Given the description of an element on the screen output the (x, y) to click on. 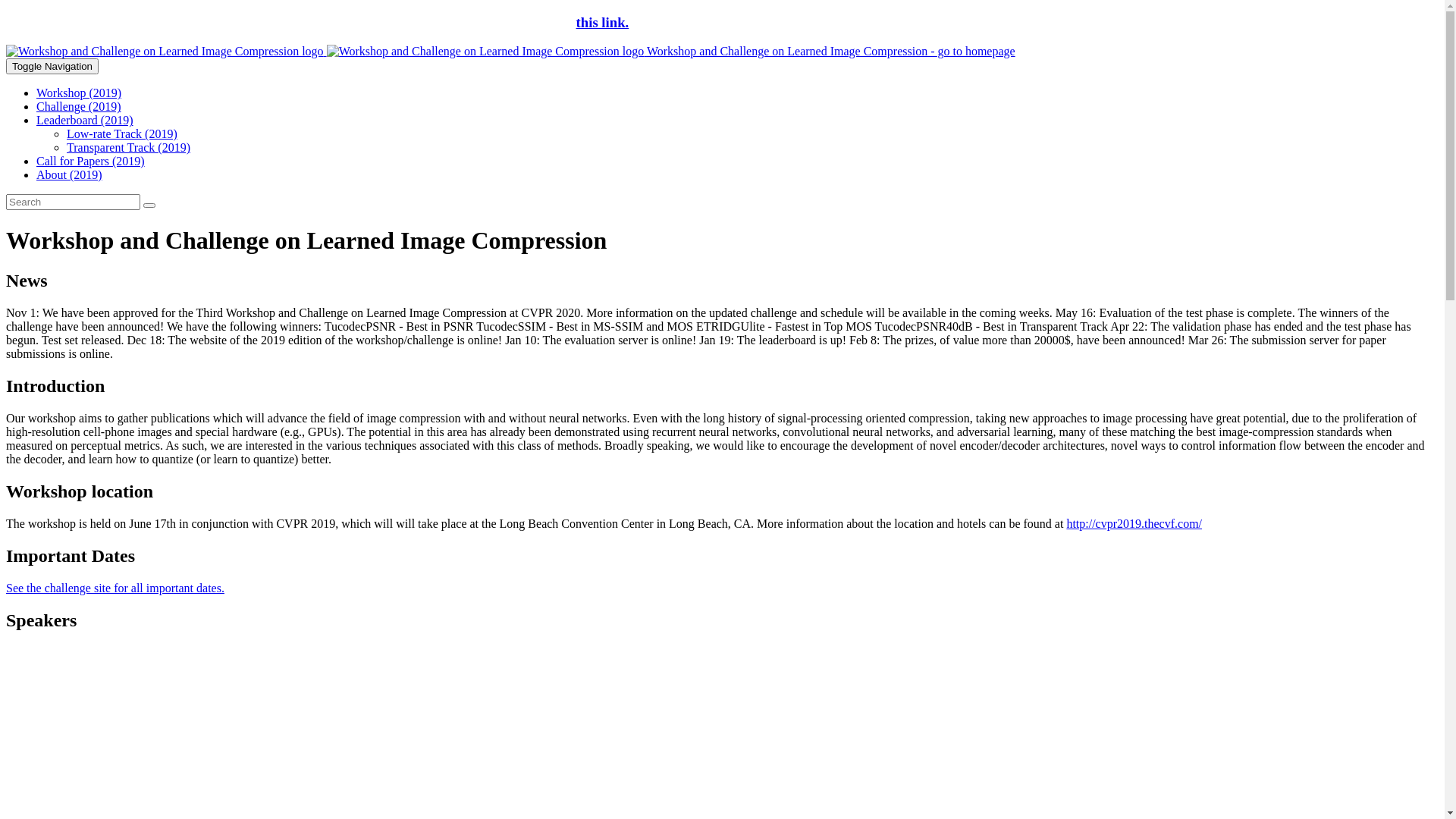
Leaderboard (2019) Element type: text (84, 119)
Workshop (2019) Element type: text (78, 92)
Call for Papers (2019) Element type: text (90, 160)
Challenge (2019) Element type: text (78, 106)
See the challenge site for all important dates. Element type: text (115, 587)
this link. Element type: text (602, 22)
About (2019) Element type: text (69, 174)
Low-rate Track (2019) Element type: text (121, 133)
Transparent Track (2019) Element type: text (128, 147)
http://cvpr2019.thecvf.com/ Element type: text (1133, 523)
Toggle Navigation Element type: text (52, 66)
